Given the description of an element on the screen output the (x, y) to click on. 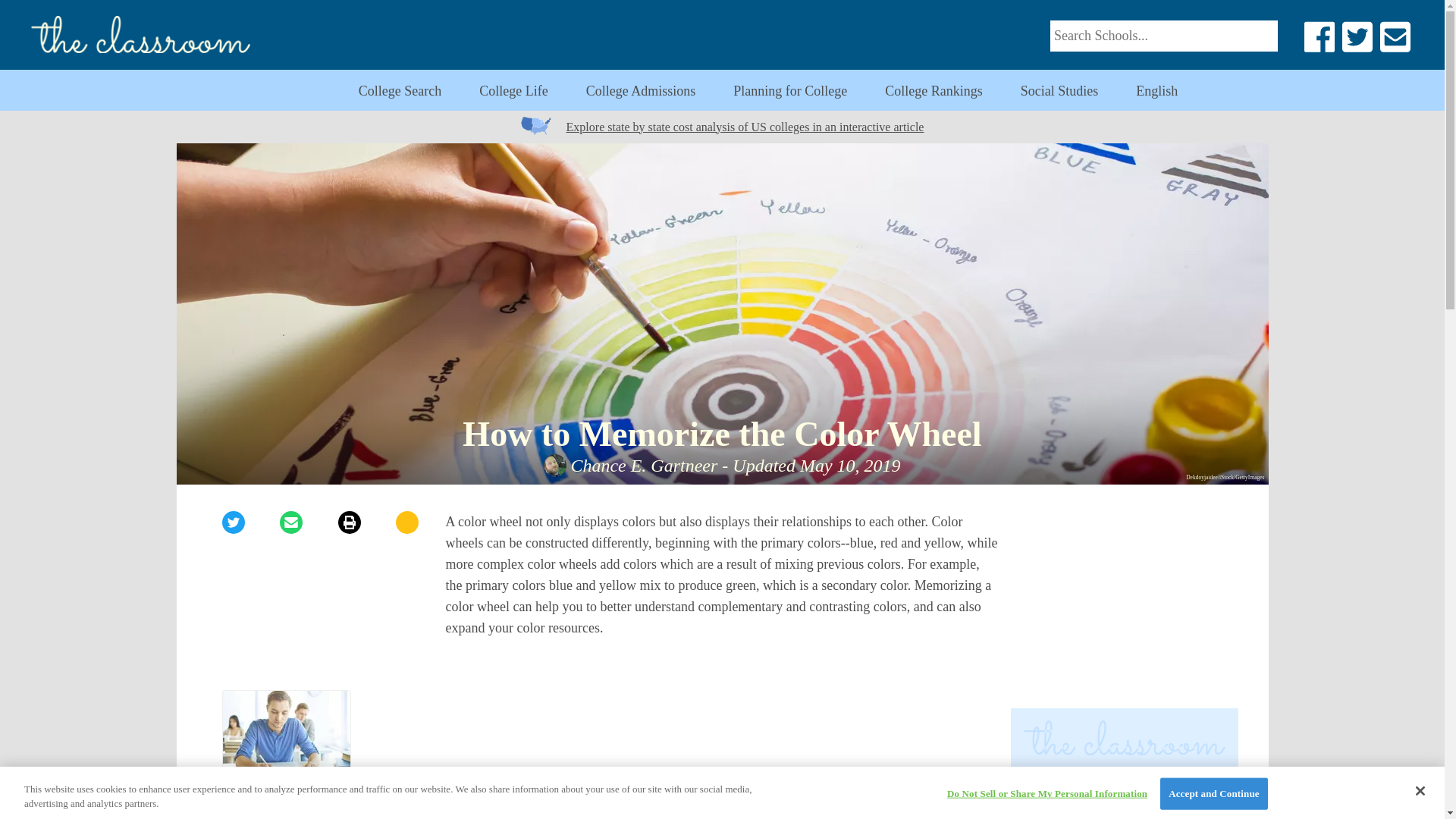
3rd party ad content (1123, 806)
Planning for College (790, 91)
3rd party ad content (721, 736)
College Life (513, 91)
College Search (399, 91)
English (285, 754)
College Admissions (1156, 91)
3rd party ad content (640, 91)
College Rankings (1123, 606)
Social Studies (933, 91)
